Given the description of an element on the screen output the (x, y) to click on. 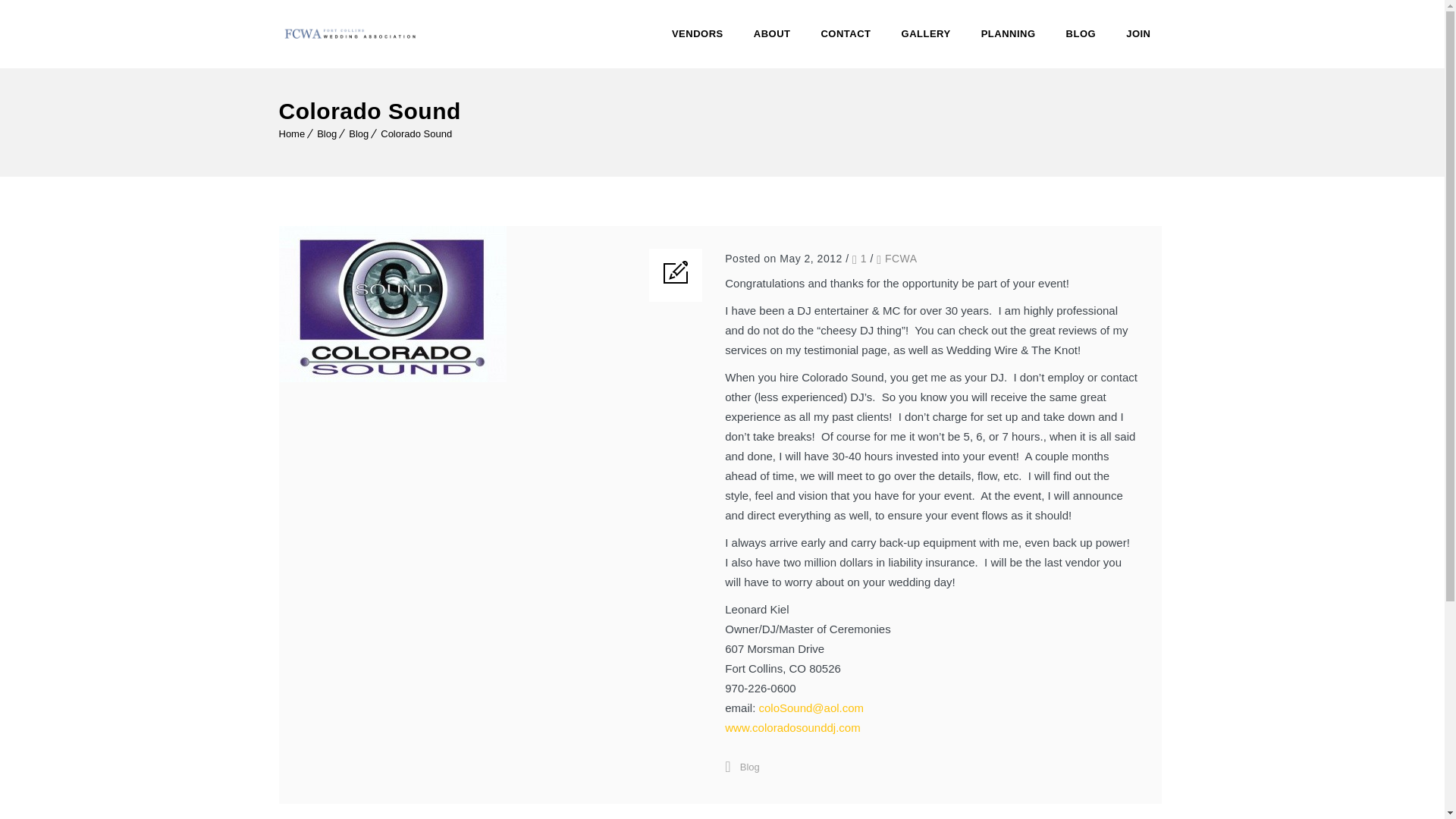
FCWA (901, 258)
View all posts by FCWA (901, 258)
PLANNING (1008, 33)
CONTACT (845, 33)
Blog (326, 133)
Blog (358, 133)
Home (292, 133)
Blog (749, 767)
1 (858, 258)
GALLERY (926, 33)
Permalink to Colorado Sound (392, 377)
Fort Collins Wedding Association (351, 33)
ABOUT (772, 33)
Colorado Sound (415, 133)
VENDORS (697, 33)
